Given the description of an element on the screen output the (x, y) to click on. 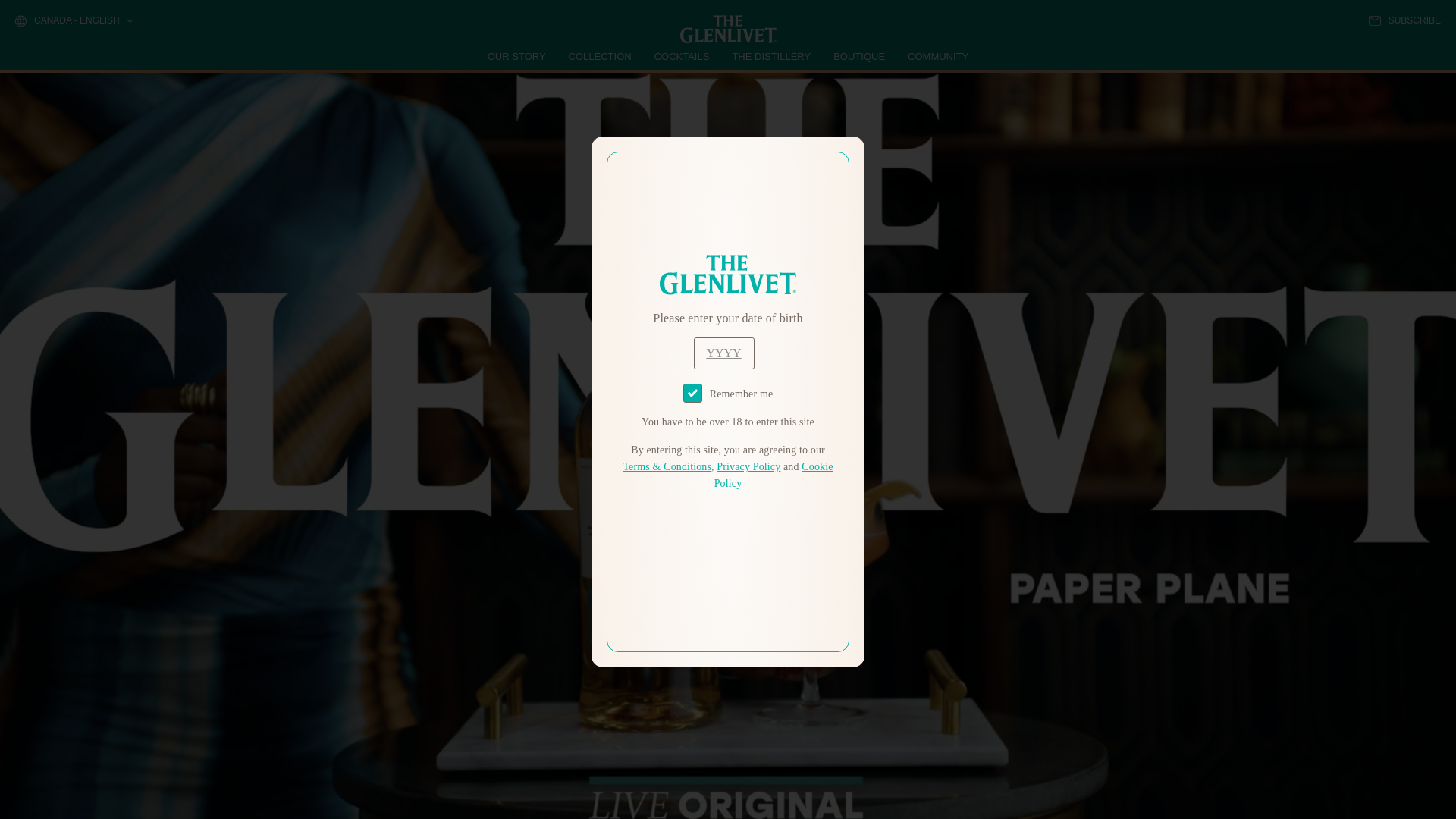
CANADA - ENGLISH (73, 21)
THE DISTILLERY (771, 56)
Cookie Policy (773, 474)
SUBSCRIBE (1404, 20)
BOUTIQUE (858, 56)
OUR STORY (516, 56)
COCKTAILS (681, 56)
COLLECTION (600, 56)
Privacy Policy (748, 466)
COMMUNITY (937, 56)
year (723, 353)
